Given the description of an element on the screen output the (x, y) to click on. 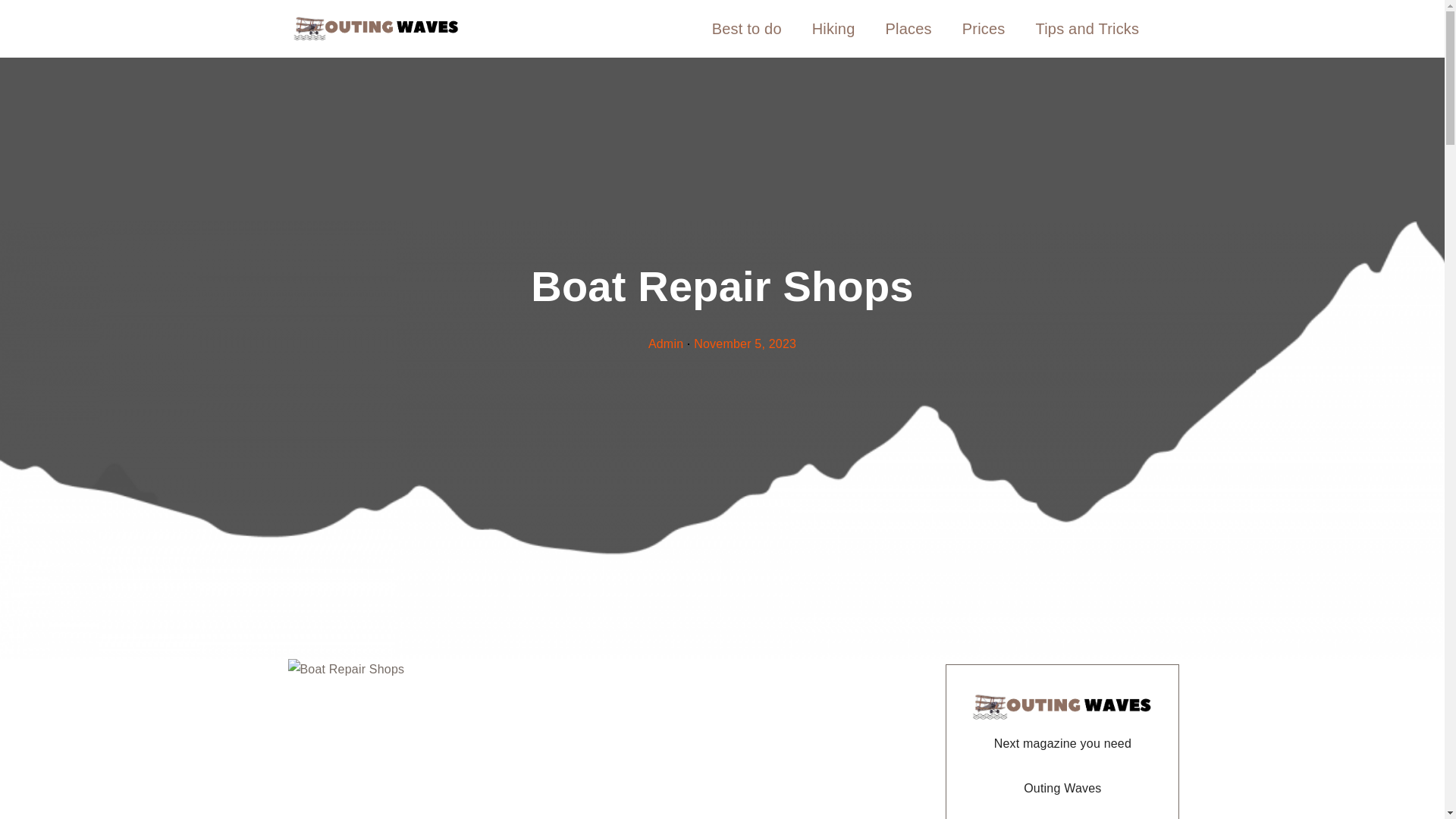
Best to do (746, 28)
Tips and Tricks (1087, 28)
Places (908, 28)
Hiking (833, 28)
Prices (983, 28)
